Given the description of an element on the screen output the (x, y) to click on. 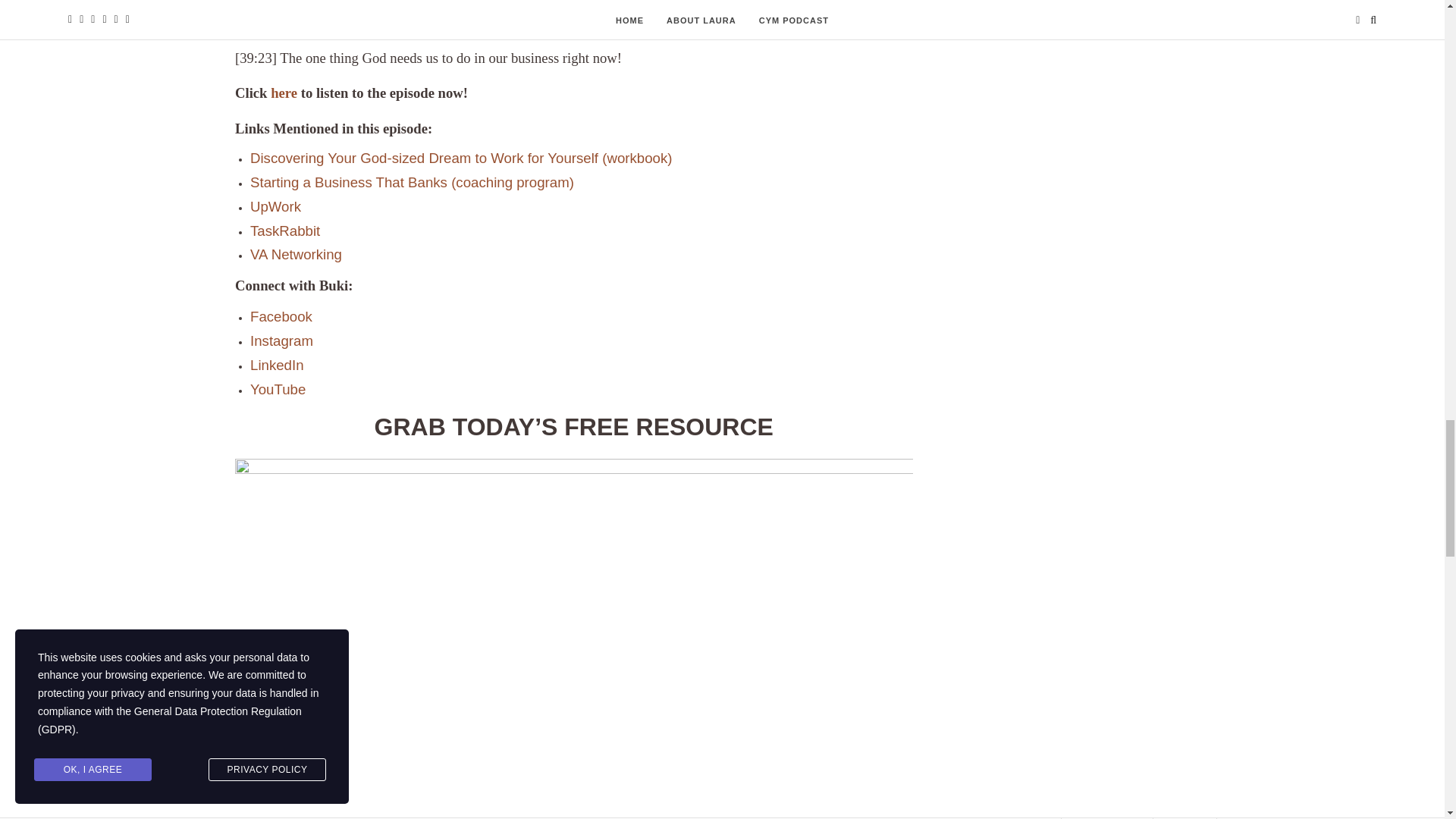
VA Networking (296, 254)
Instagram (281, 341)
here (283, 92)
Facebook (281, 317)
TaskRabbit (285, 230)
UpWork (275, 206)
